Given the description of an element on the screen output the (x, y) to click on. 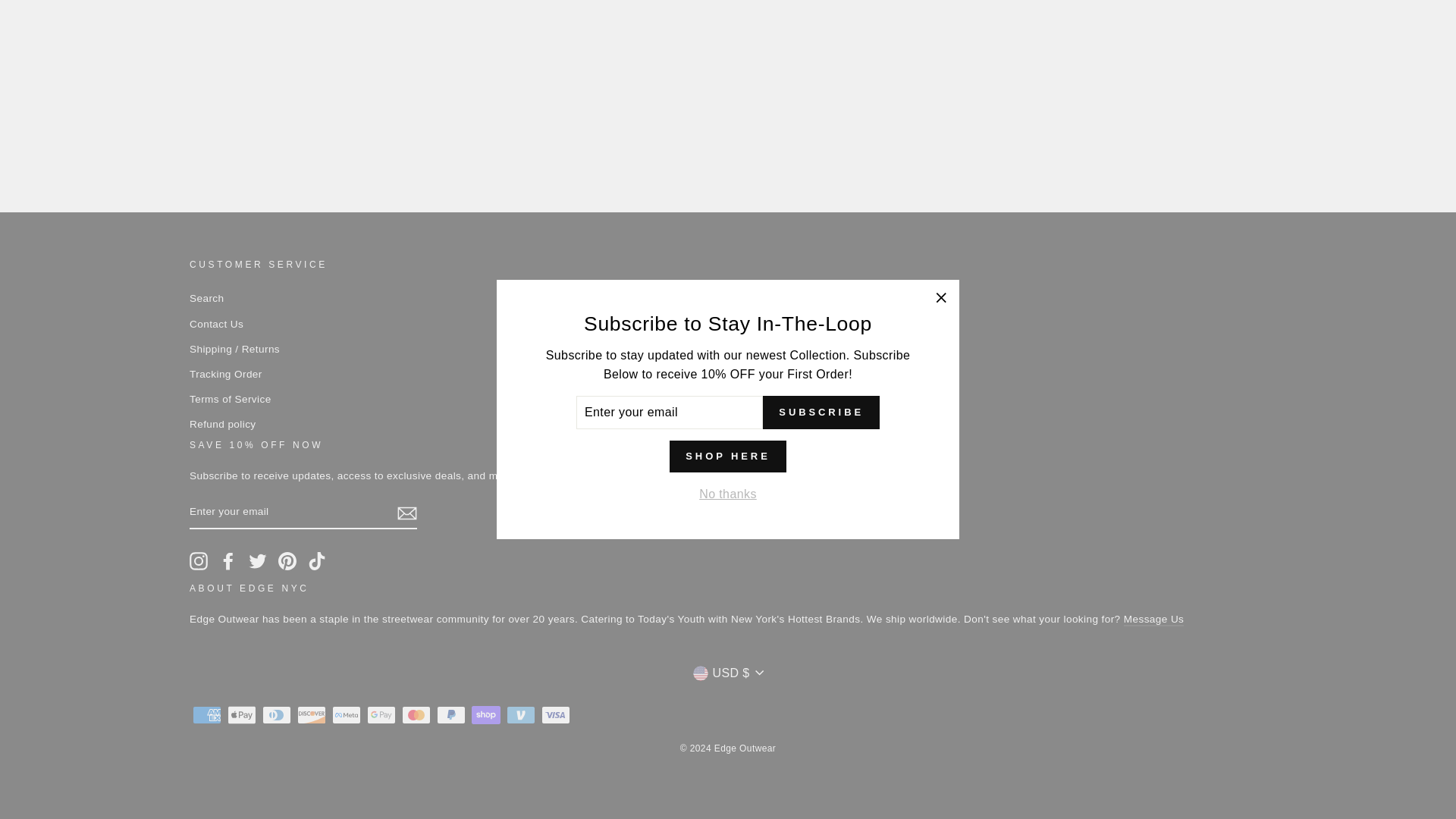
Discover (311, 714)
Visa (555, 714)
Meta Pay (346, 714)
Mastercard (415, 714)
Google Pay (381, 714)
Apple Pay (241, 714)
Diners Club (276, 714)
Venmo (520, 714)
PayPal (450, 714)
Shop Pay (485, 714)
